Given the description of an element on the screen output the (x, y) to click on. 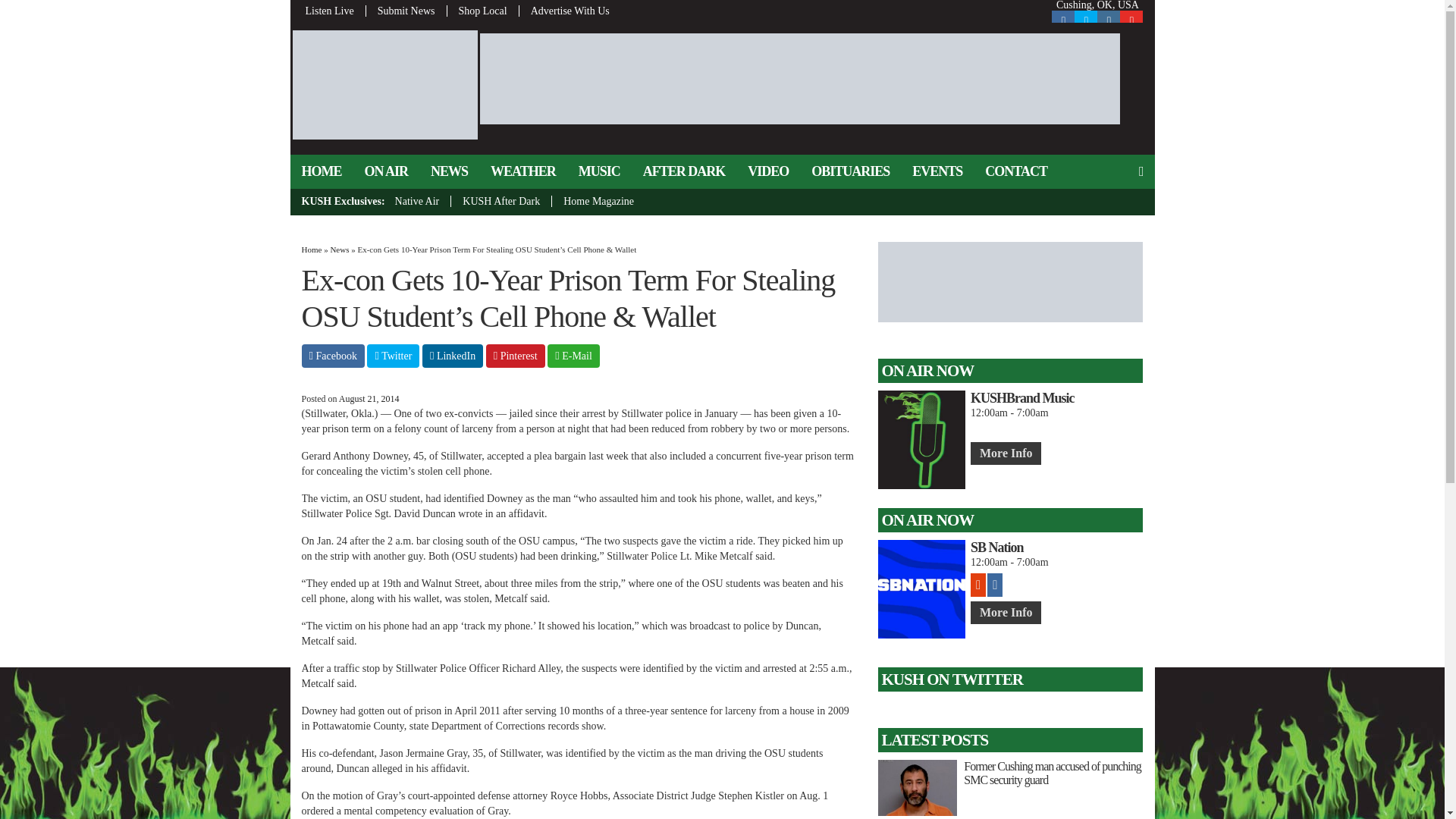
MUSIC (599, 171)
Share to Pinterest (515, 355)
Advertise With Us (564, 10)
SB Nation (1056, 547)
Share to E-Mail (573, 355)
12:00 am (368, 398)
AFTER DARK (683, 171)
Listen Live (333, 10)
VIDEO (767, 171)
